Given the description of an element on the screen output the (x, y) to click on. 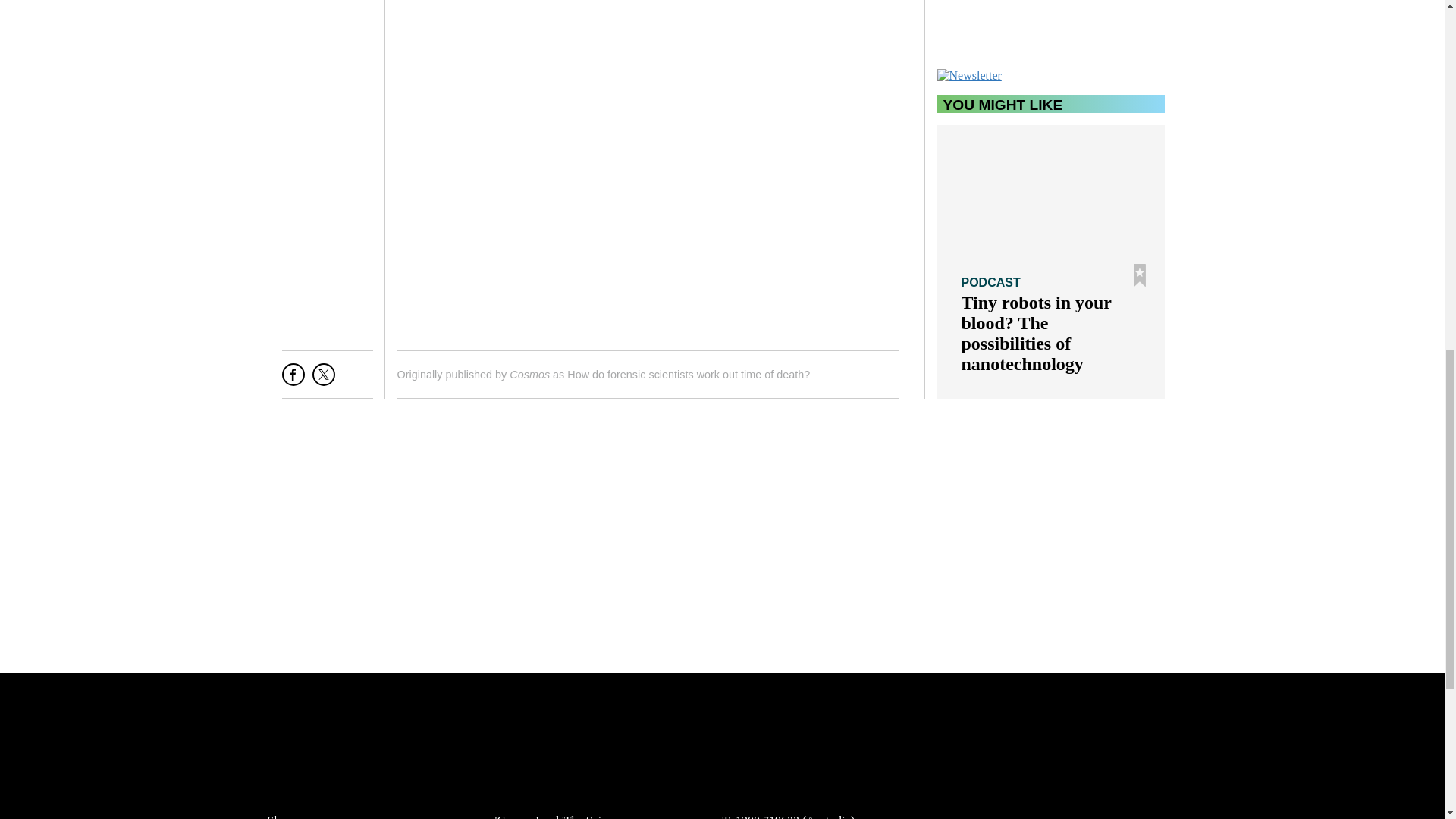
Share on Facebook (293, 380)
How do forensic scientists work out time of death? (688, 374)
Cosmos (529, 374)
Tweet (323, 380)
How do forensic scientists work out time of death? (688, 374)
